Given the description of an element on the screen output the (x, y) to click on. 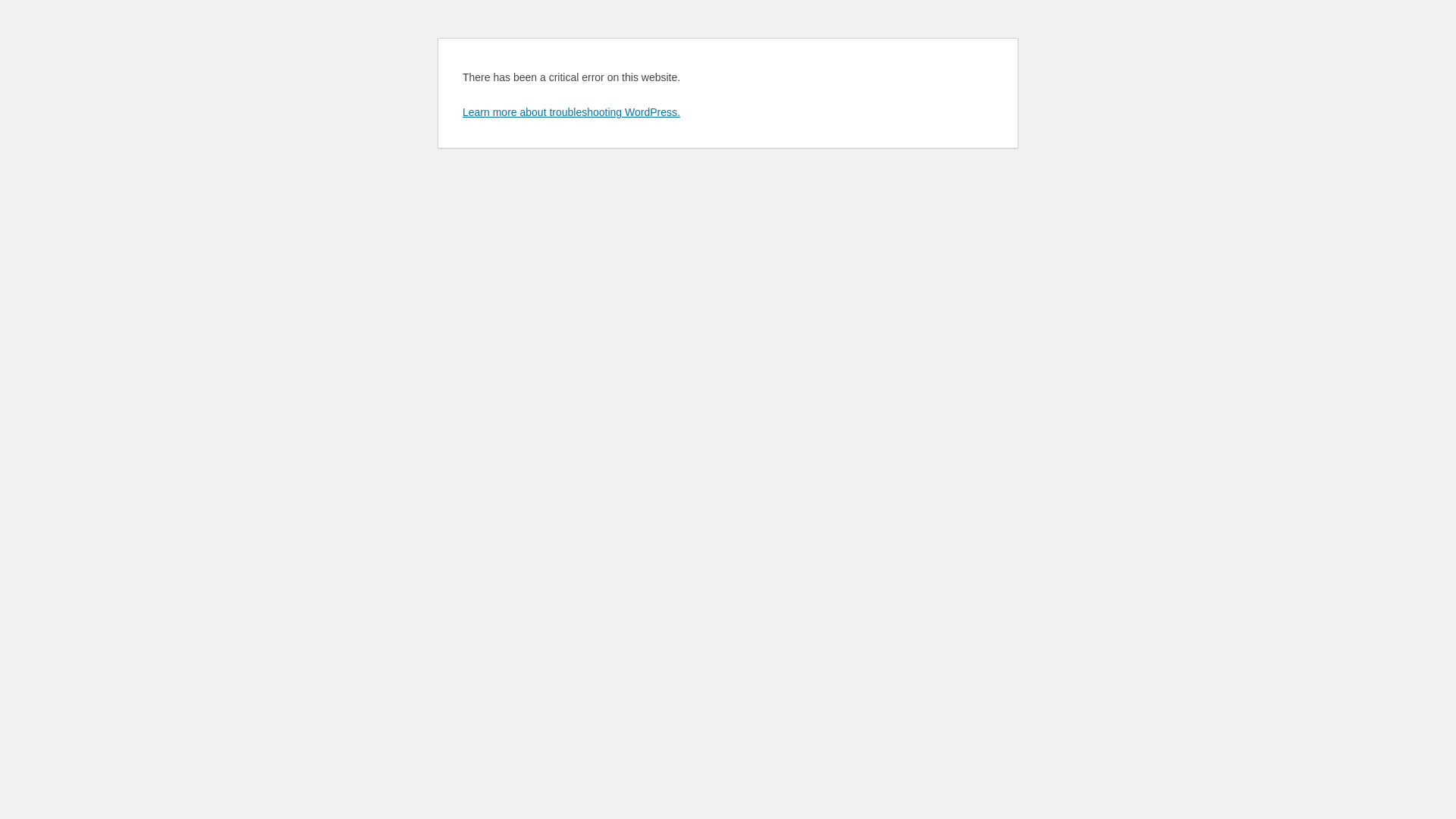
Learn more about troubleshooting WordPress. Element type: text (571, 112)
